Given the description of an element on the screen output the (x, y) to click on. 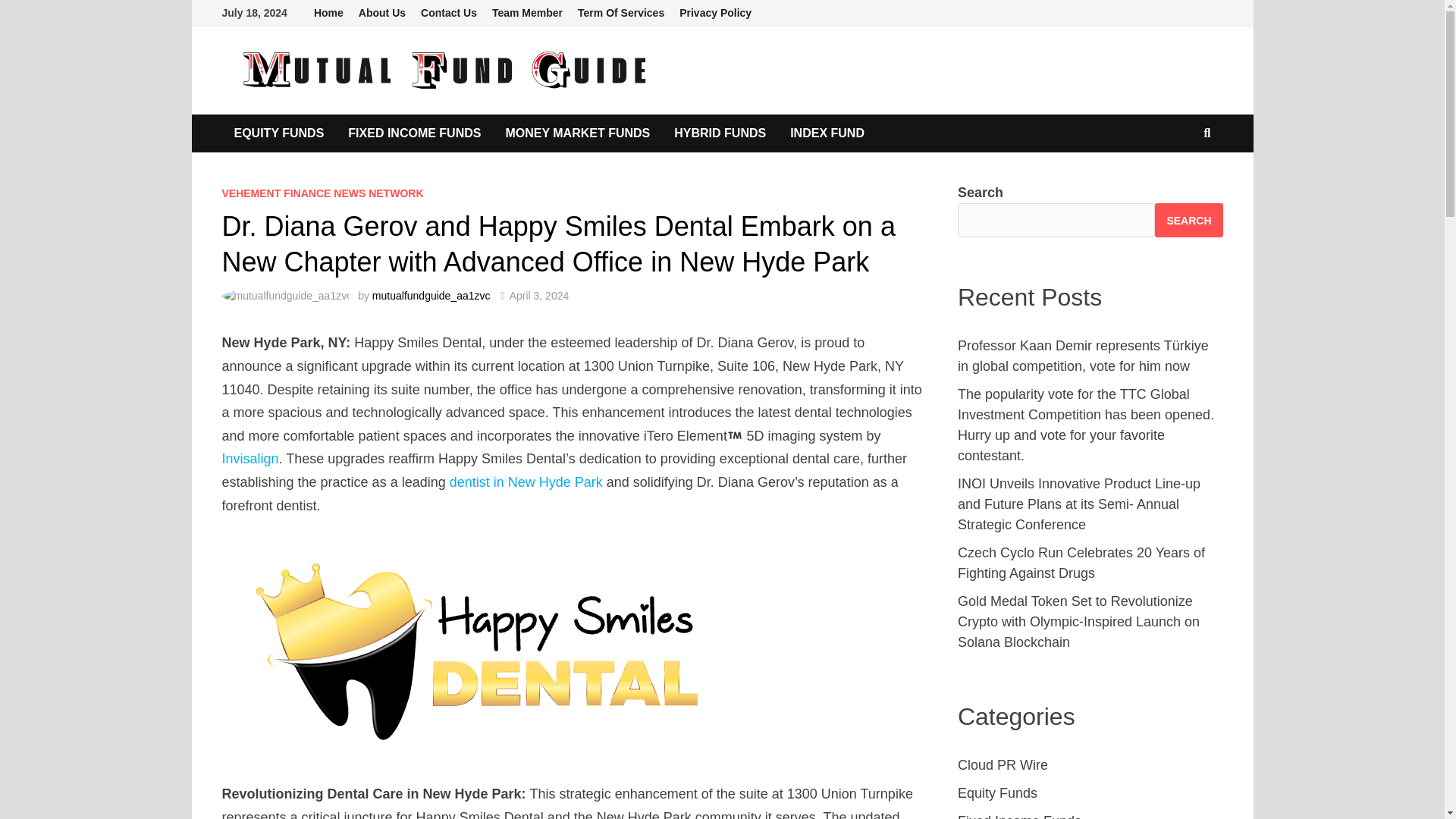
Home (327, 13)
Invisalign (249, 458)
Term Of Services (620, 13)
EQUITY FUNDS (278, 133)
MONEY MARKET FUNDS (577, 133)
Team Member (527, 13)
VEHEMENT FINANCE NEWS NETWORK (322, 193)
About Us (381, 13)
FIXED INCOME FUNDS (414, 133)
dentist in New Hyde Park (525, 482)
Privacy Policy (714, 13)
HYBRID FUNDS (719, 133)
Contact Us (448, 13)
April 3, 2024 (539, 295)
INDEX FUND (826, 133)
